Given the description of an element on the screen output the (x, y) to click on. 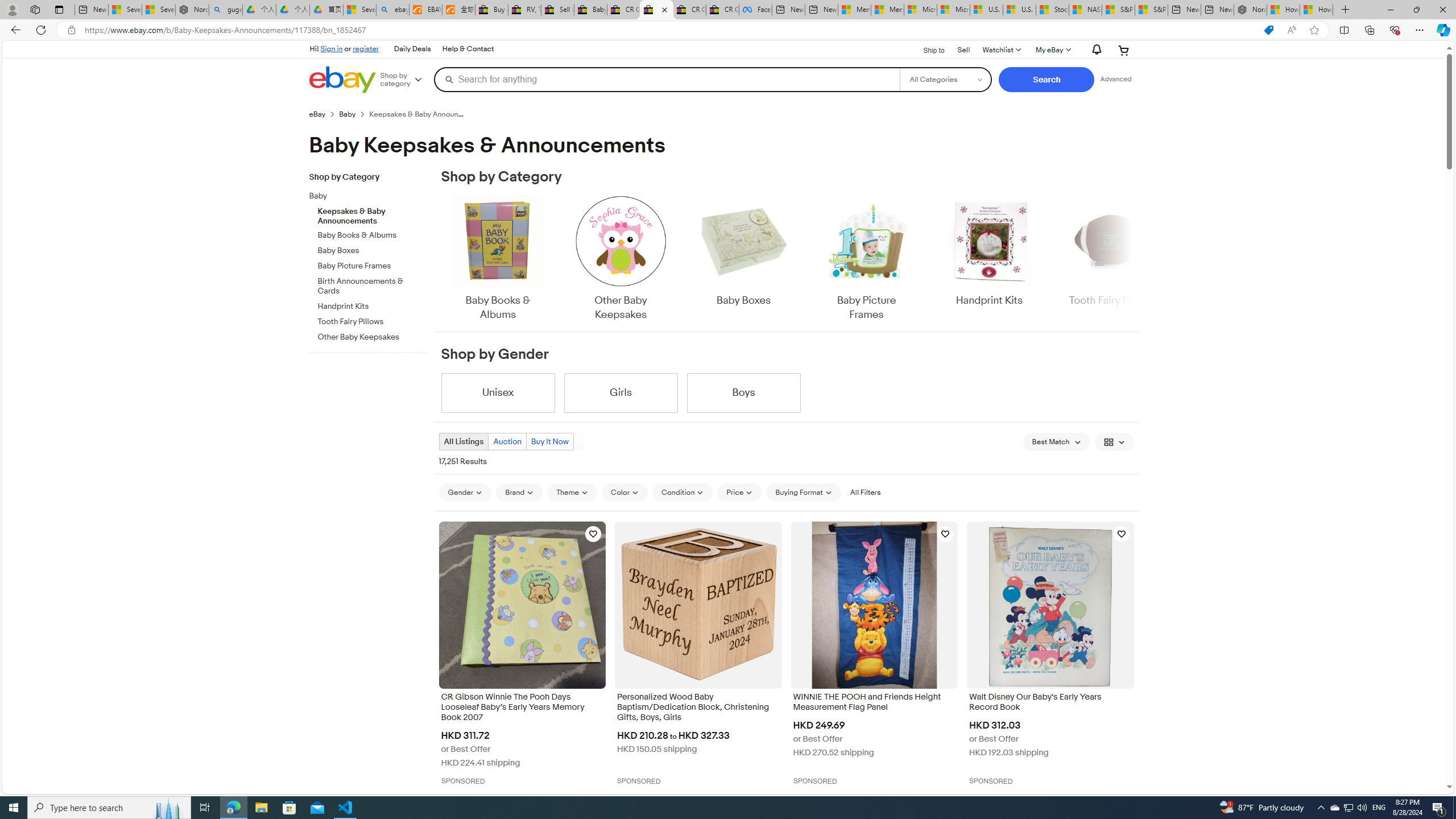
My eBay (1052, 49)
Birth Announcements & Cards (371, 283)
Sell (963, 49)
Color (624, 492)
Brand (519, 492)
WatchlistExpand Watch List (1000, 49)
New tab (1217, 9)
Baby (371, 194)
Baby Picture Frames (866, 258)
Condition (682, 492)
register (366, 48)
Handprint Kits (988, 251)
